Given the description of an element on the screen output the (x, y) to click on. 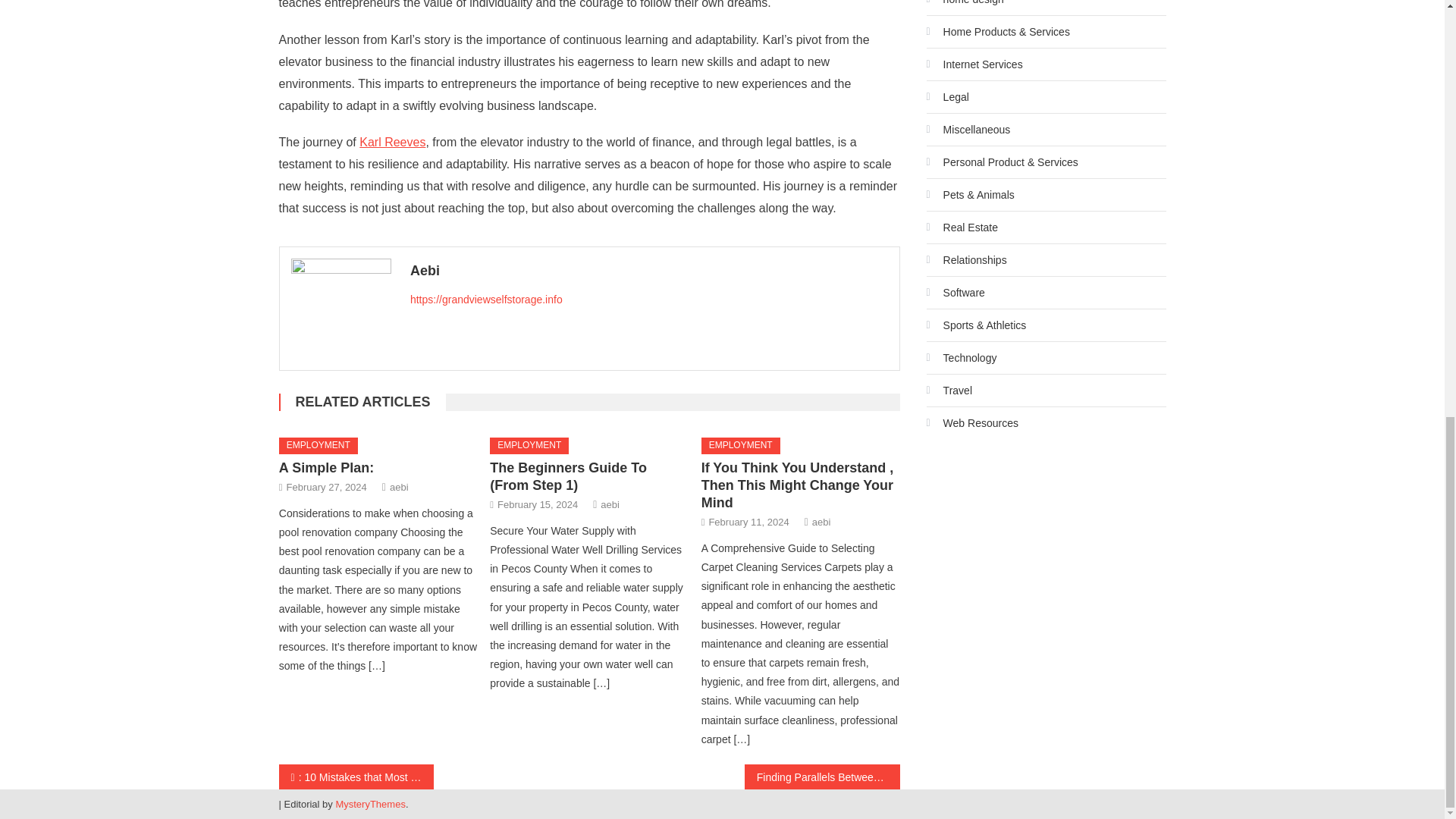
February 15, 2024 (537, 504)
A Simple Plan: (326, 467)
February 27, 2024 (326, 487)
EMPLOYMENT (740, 445)
aebi (821, 521)
Karl Reeves (392, 141)
Finding Parallels Between and Life (821, 776)
Aebi (649, 270)
aebi (609, 504)
: 10 Mistakes that Most People Make (356, 776)
aebi (399, 487)
EMPLOYMENT (318, 445)
February 11, 2024 (748, 521)
EMPLOYMENT (529, 445)
